Given the description of an element on the screen output the (x, y) to click on. 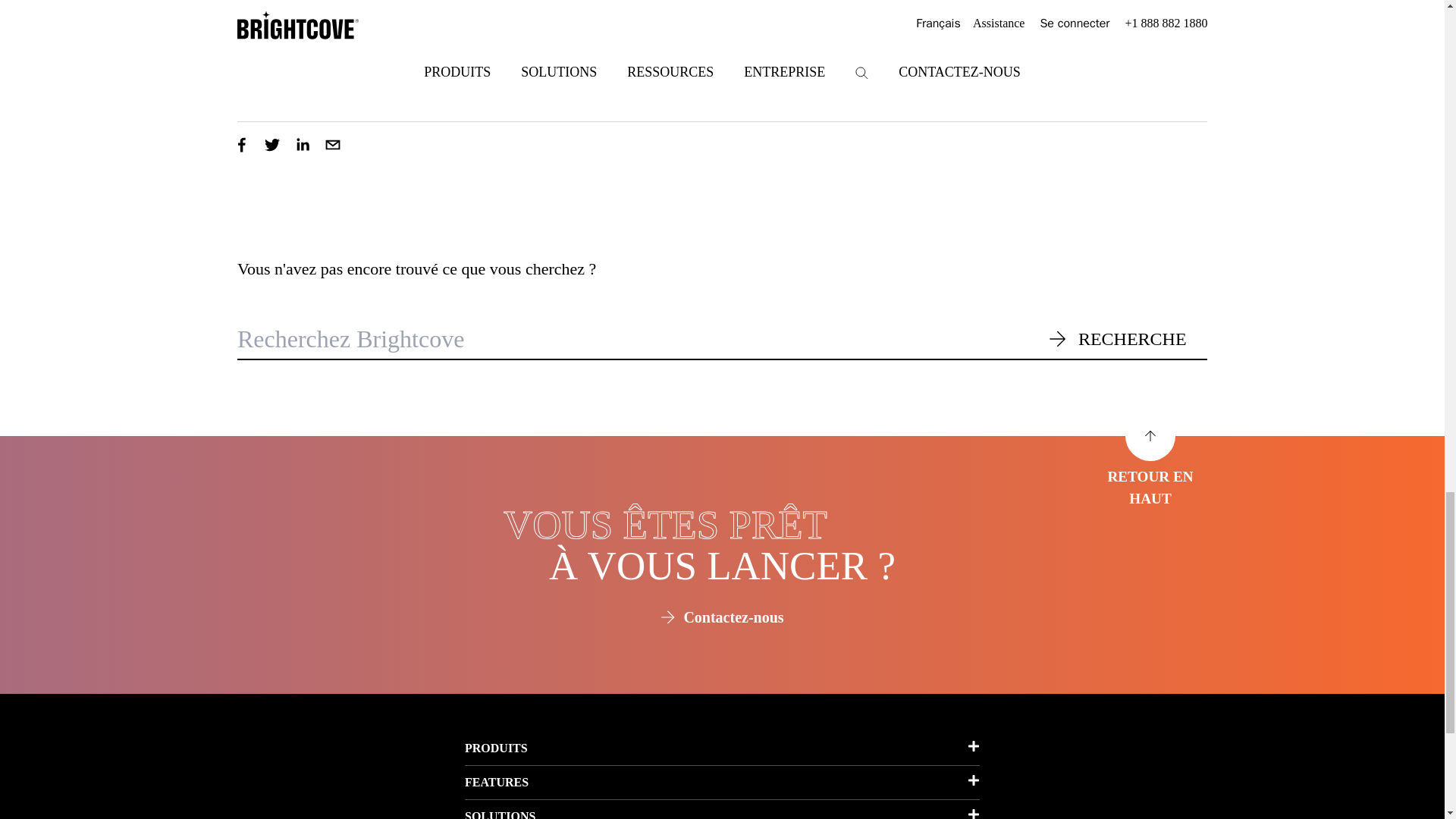
Contactez-nous (722, 617)
RECHERCHE (1127, 342)
FEATURES (721, 782)
PRODUITS (721, 748)
